Given the description of an element on the screen output the (x, y) to click on. 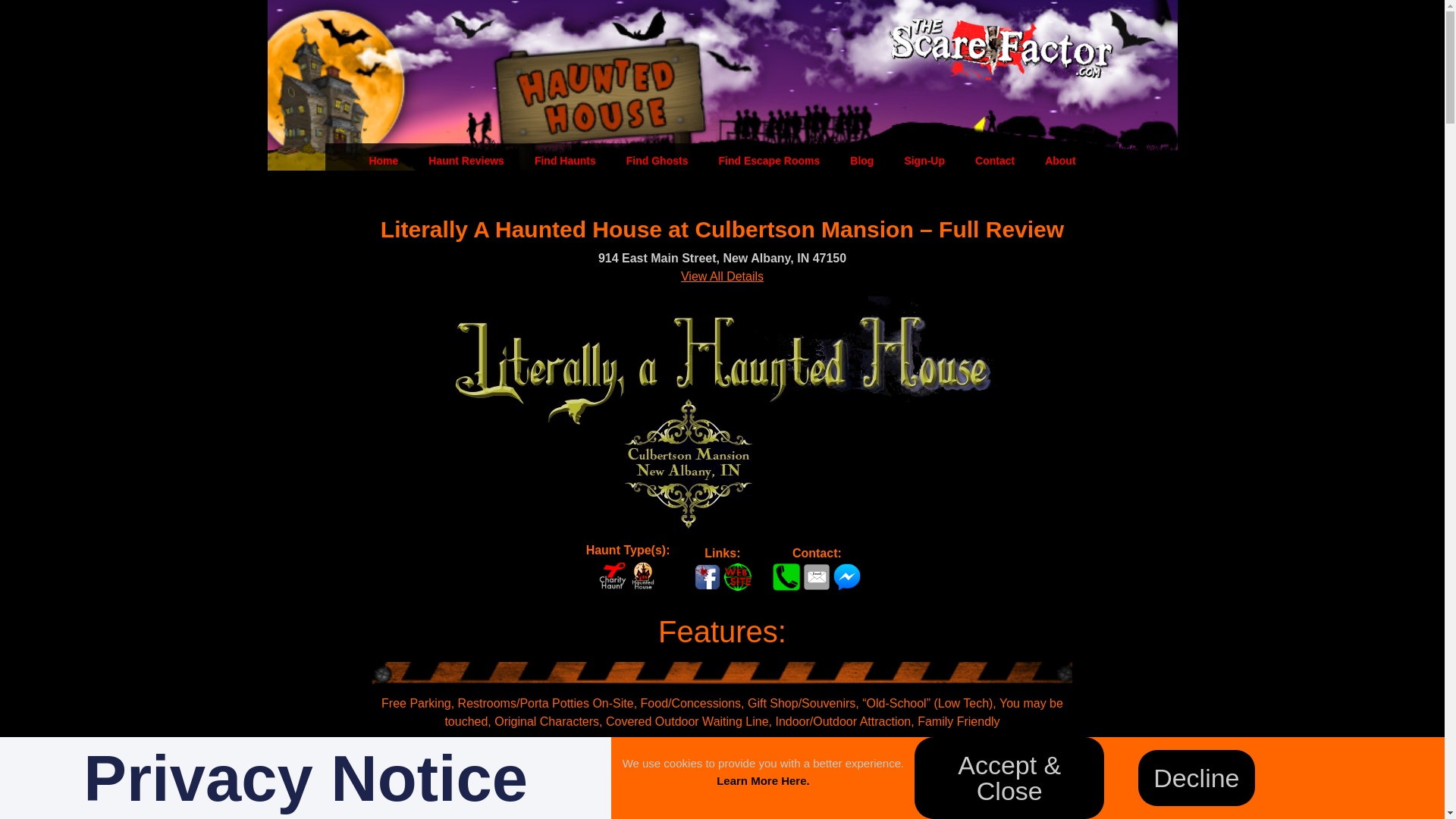
Blog (861, 160)
Find Ghosts (657, 160)
Find Haunts (565, 160)
About (1059, 160)
Team Zombillies (591, 814)
Contact The Scare Factor Website (994, 160)
The Scare Factor Haunt Blog (861, 160)
View All Details (721, 276)
About The Scare Factor (1059, 160)
The Scare Factor Escape Rooms (768, 160)
